Given the description of an element on the screen output the (x, y) to click on. 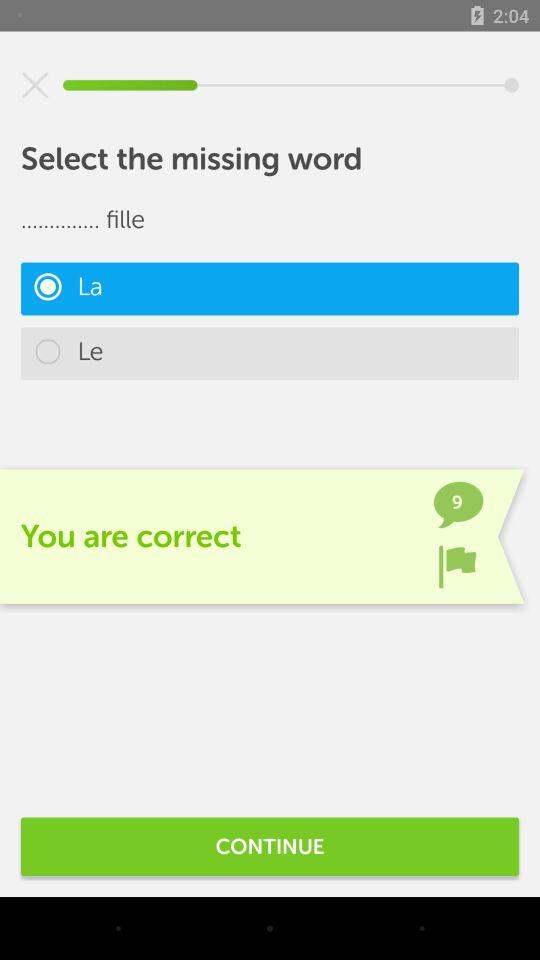
click continue icon (270, 846)
